Given the description of an element on the screen output the (x, y) to click on. 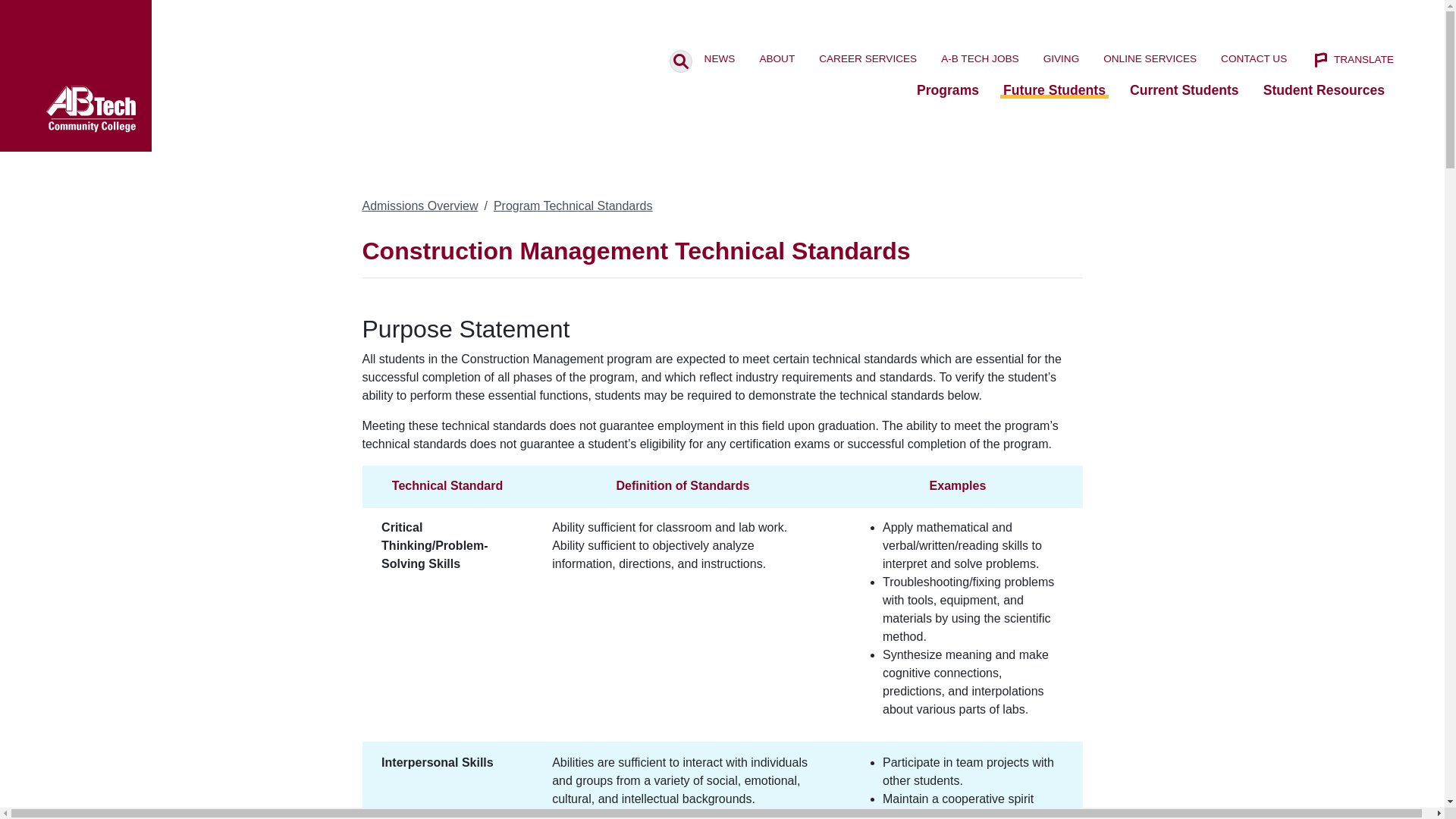
A-B TECH JOBS (979, 58)
Programs (947, 90)
Submit (681, 60)
ABOUT (776, 58)
CAREER SERVICES (867, 58)
GIVING (1062, 58)
ONLINE SERVICES (1149, 58)
TRANSLATE (1353, 59)
Google Translate (1353, 59)
